Given the description of an element on the screen output the (x, y) to click on. 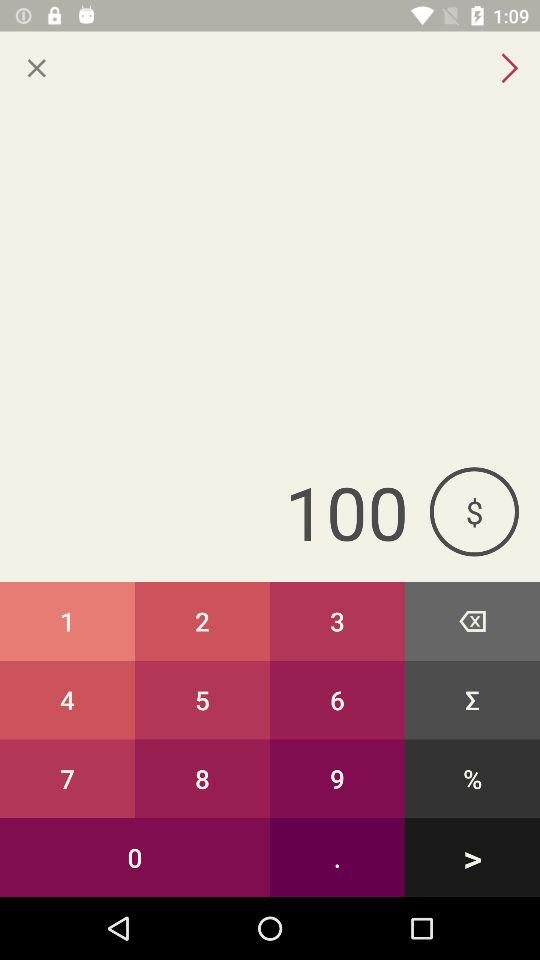
tap the 9 (337, 778)
